Given the description of an element on the screen output the (x, y) to click on. 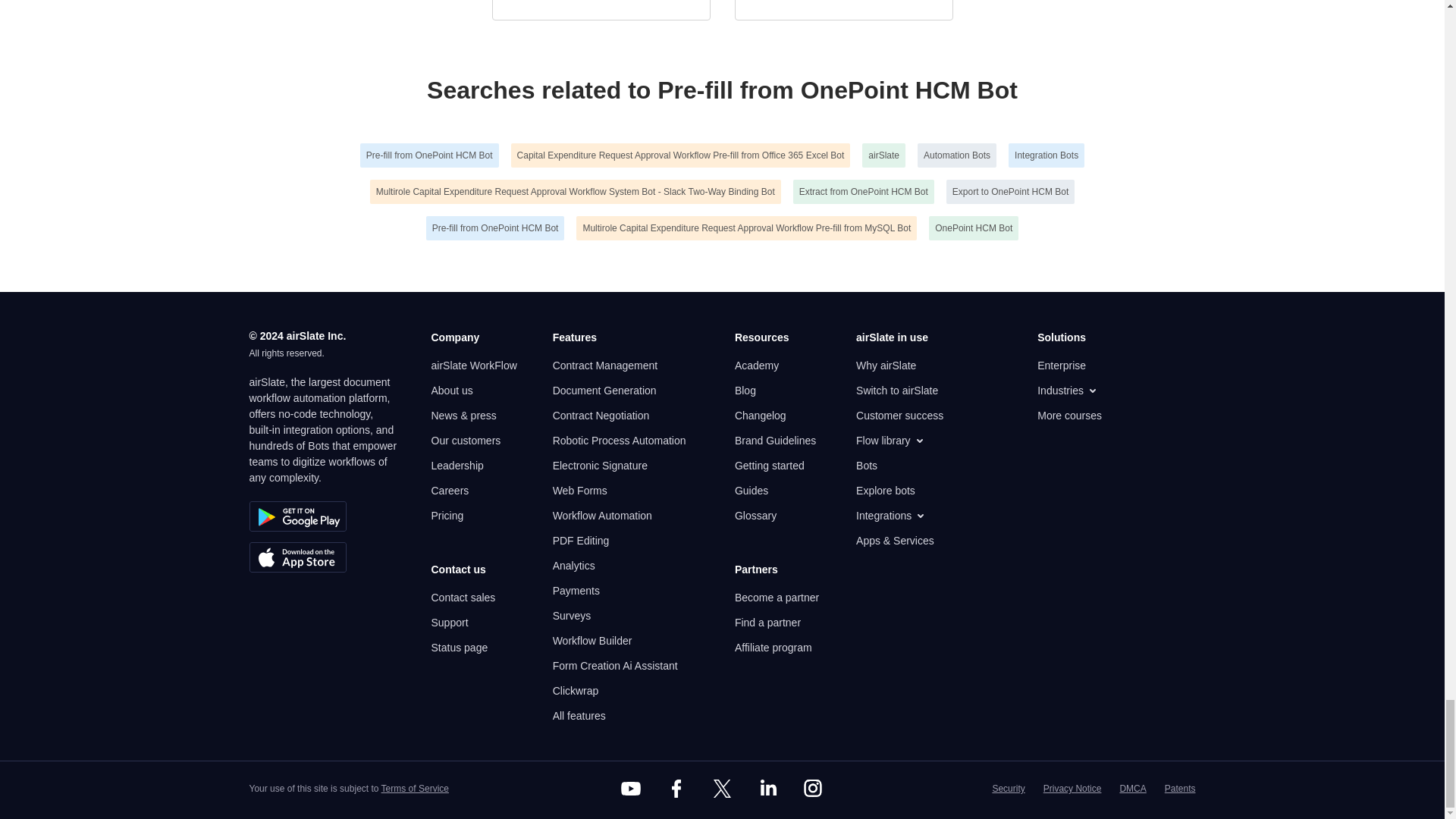
LinkedIn (767, 788)
Twitter (721, 788)
Facebook (676, 788)
YouTube (630, 788)
Instagram (812, 788)
